Given the description of an element on the screen output the (x, y) to click on. 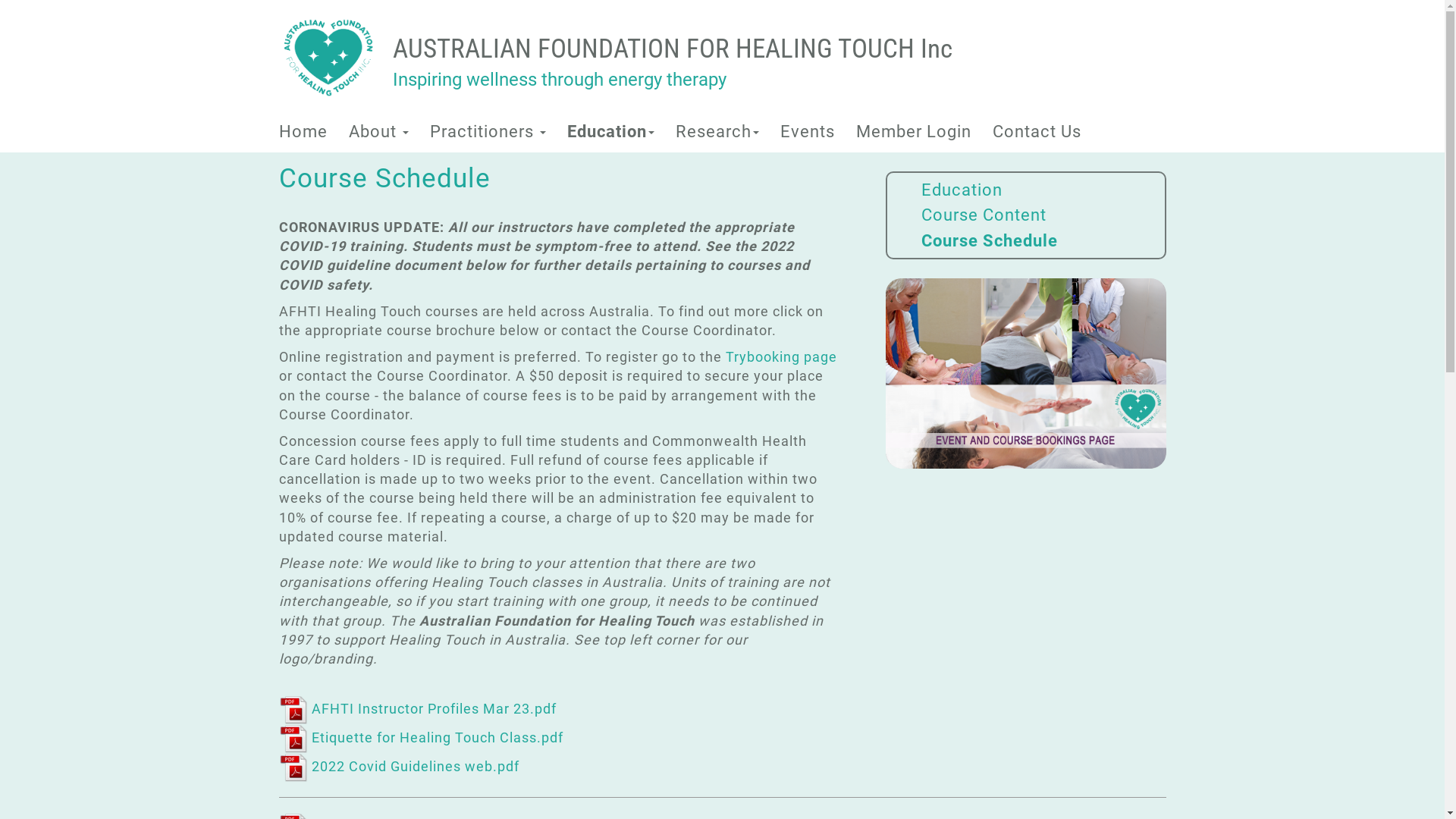
Course Schedule Element type: text (988, 240)
Education Element type: text (960, 189)
Practitioners Element type: text (487, 131)
AFHTI Instructor Profiles Mar 23.pdf Element type: text (417, 708)
Course Content Element type: text (982, 214)
Events Element type: text (806, 131)
Research Element type: text (716, 131)
Trybooking page Element type: text (780, 356)
About Element type: text (378, 131)
2022 Covid Guidelines web.pdf Element type: text (399, 766)
Education Element type: text (610, 131)
Home Element type: text (303, 131)
Etiquette for Healing Touch Class.pdf Element type: text (421, 737)
Member Login Element type: text (912, 131)
Contact Us Element type: text (1035, 131)
